Given the description of an element on the screen output the (x, y) to click on. 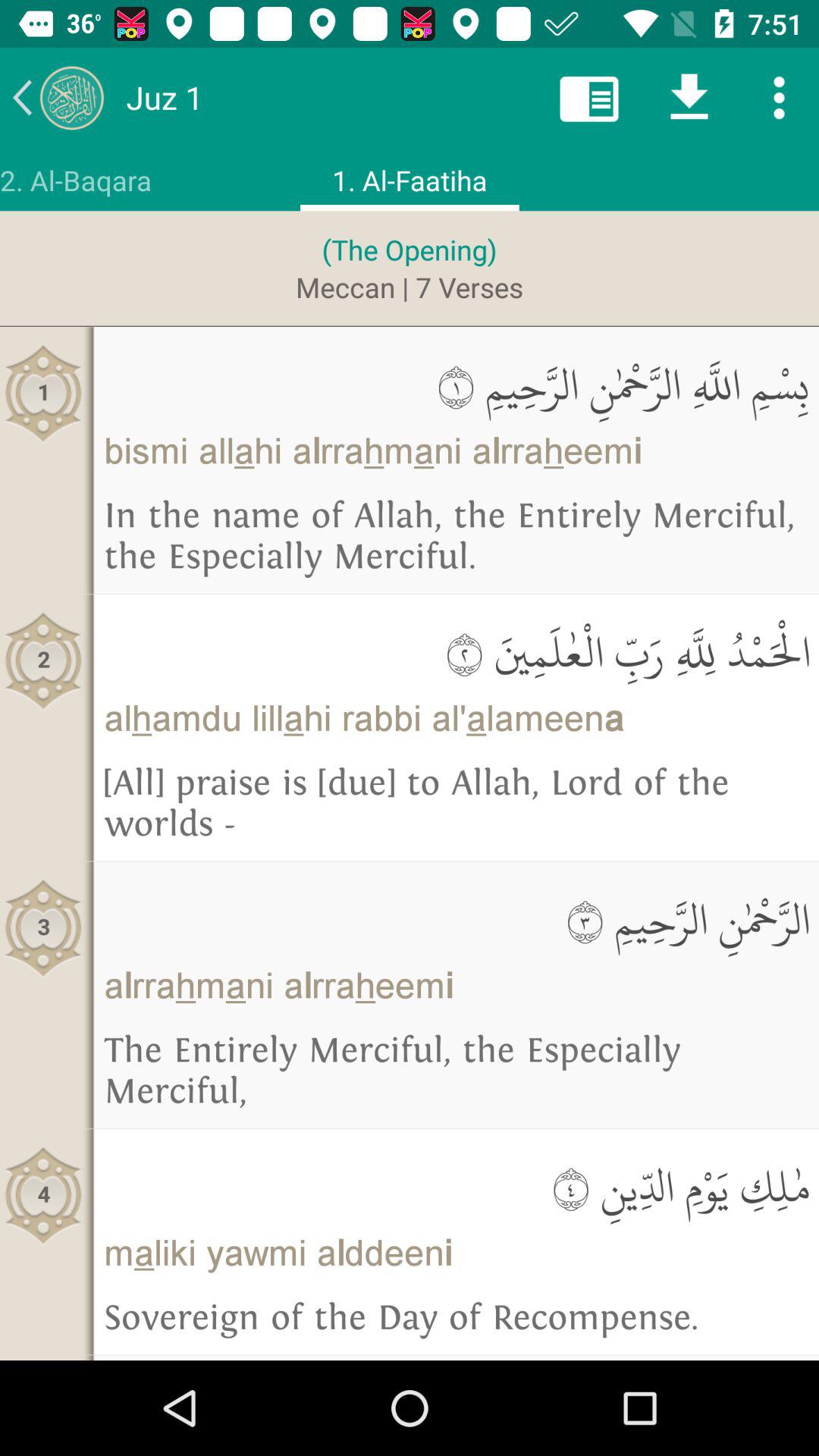
open item above 2. al-baqara app (58, 97)
